Given the description of an element on the screen output the (x, y) to click on. 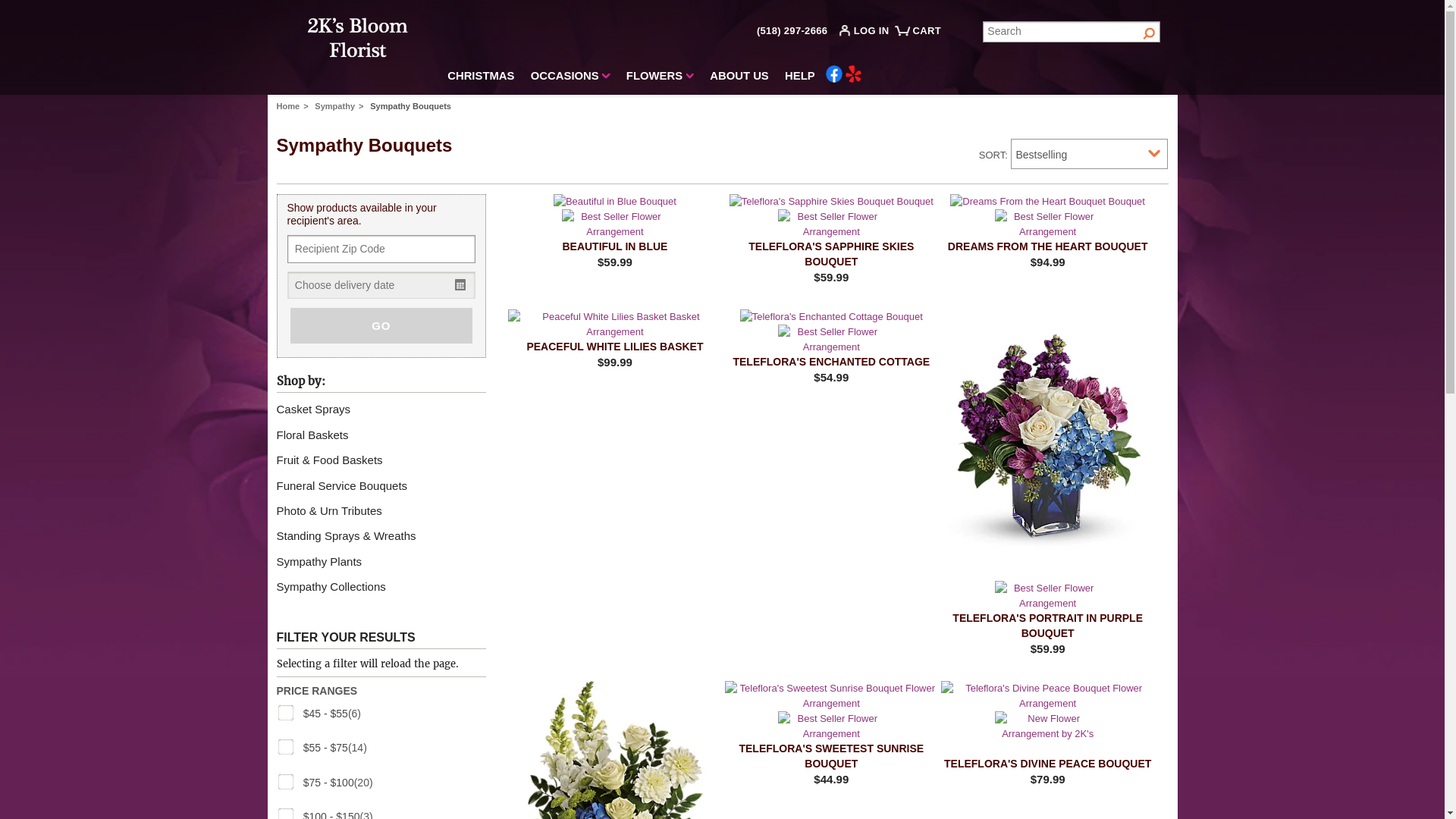
Standing Sprays & Wreaths Element type: text (350, 535)
HELP Element type: text (799, 77)
(518) 297-2666 Element type: text (791, 29)
Home Element type: text (293, 105)
Go Element type: hover (1149, 32)
TELEFLORA'S SWEETEST SUNRISE BOUQUET
$44.99 Element type: text (831, 733)
LOG IN Element type: text (867, 33)
Floral Baskets Element type: text (316, 434)
OCCASIONS Element type: text (569, 77)
Photo & Urn Tributes Element type: text (334, 510)
Fruit & Food Baskets Element type: text (334, 459)
FLOWERS Element type: text (659, 77)
Sympathy Element type: text (340, 105)
TELEFLORA'S SAPPHIRE SKIES BOUQUET
$59.99 Element type: text (831, 239)
CHRISTMAS Element type: text (481, 77)
Sympathy Bouquets Element type: text (410, 105)
PEACEFUL WHITE LILIES BASKET
$99.99 Element type: text (614, 339)
TELEFLORA'S DIVINE PEACE BOUQUET
$79.99 Element type: text (1047, 733)
Sympathy Collections Element type: text (335, 586)
Sympathy Plants Element type: text (323, 561)
ABOUT US Element type: text (739, 77)
CART Element type: text (920, 36)
Search Element type: hover (1071, 31)
TELEFLORA'S ENCHANTED COTTAGE
$54.99 Element type: text (831, 347)
X Element type: text (455, 8)
Casket Sprays Element type: text (318, 408)
Funeral Service Bouquets Element type: text (346, 485)
BEAUTIFUL IN BLUE
$59.99 Element type: text (614, 231)
DREAMS FROM THE HEART BOUQUET
$94.99 Element type: text (1047, 231)
TELEFLORA'S PORTRAIT IN PURPLE BOUQUET
$59.99 Element type: text (1047, 482)
